Given the description of an element on the screen output the (x, y) to click on. 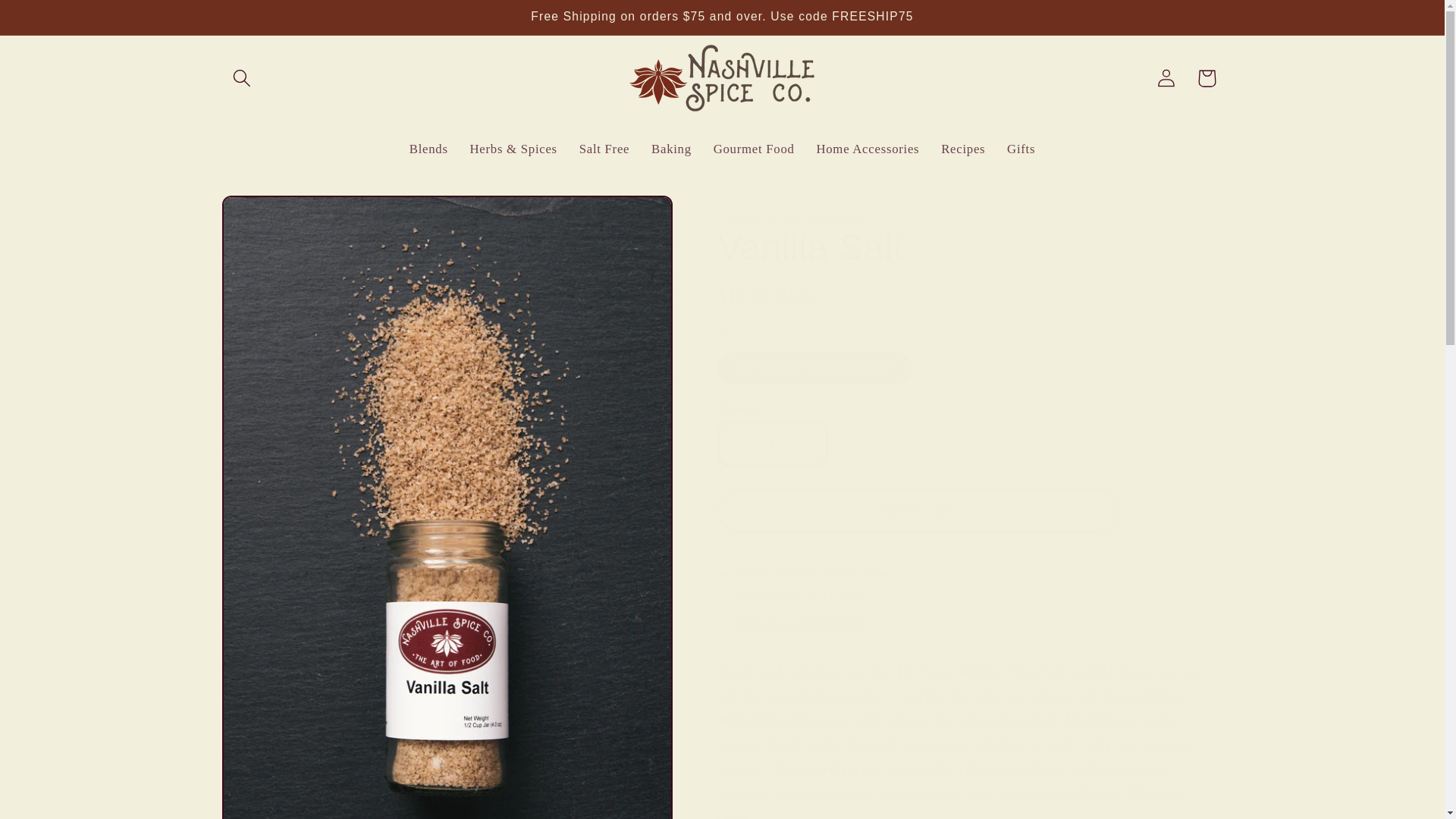
Check out (1064, 92)
Home Accessories (867, 149)
Skip to product information (277, 216)
Gourmet Food (753, 149)
Gifts (1020, 149)
Skip to content (56, 21)
Baking (671, 149)
Log in (1166, 78)
Blends (427, 149)
Salt Free (603, 149)
Recipes (962, 149)
Cart (1205, 78)
